Given the description of an element on the screen output the (x, y) to click on. 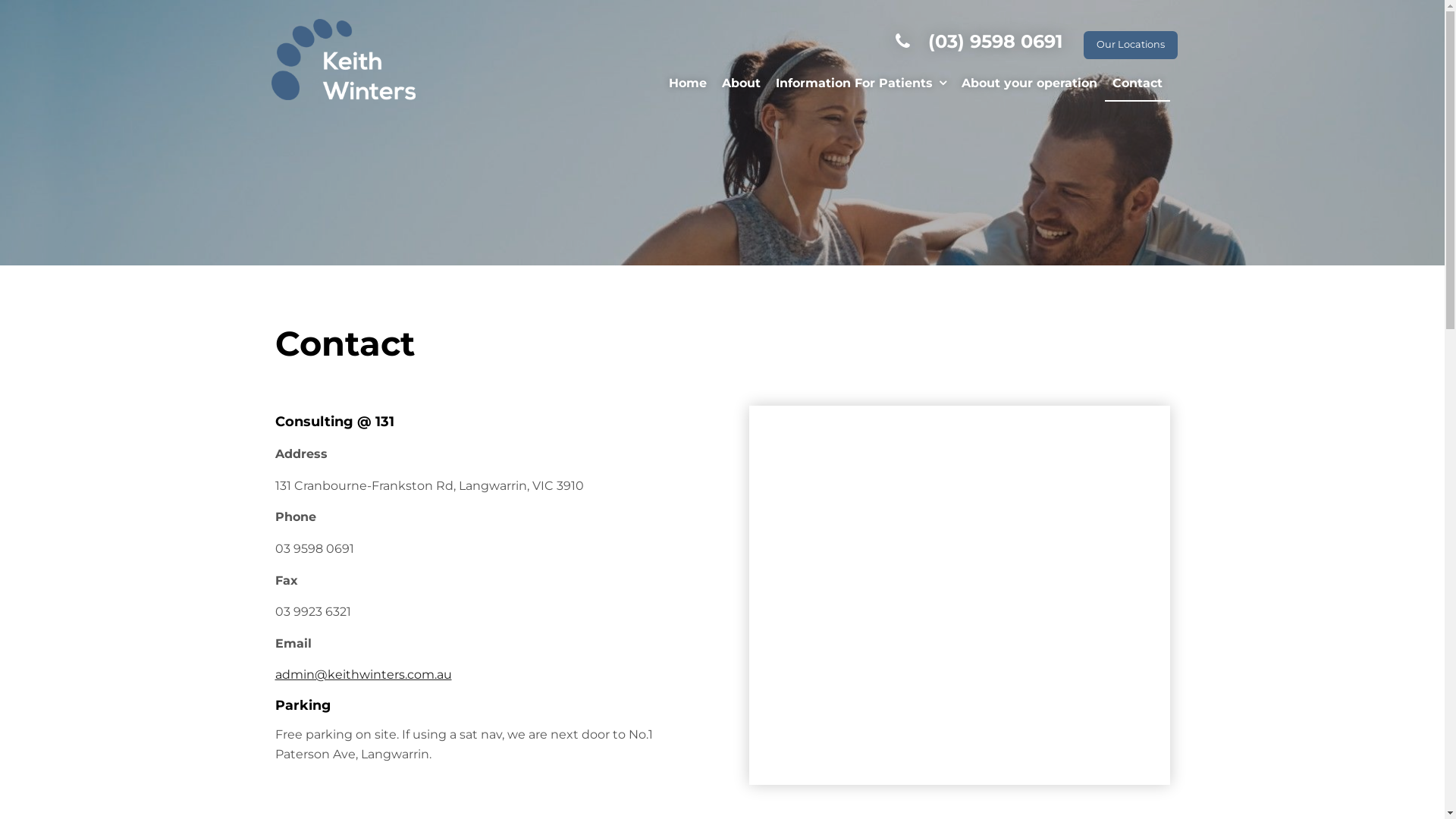
Home Element type: text (687, 83)
Contact Element type: text (1136, 83)
Our Locations Element type: text (1129, 45)
About your operation Element type: text (1028, 83)
admin@keithwinters.com.au Element type: text (362, 674)
Information For Patients Element type: text (860, 83)
About Element type: text (741, 83)
